Given the description of an element on the screen output the (x, y) to click on. 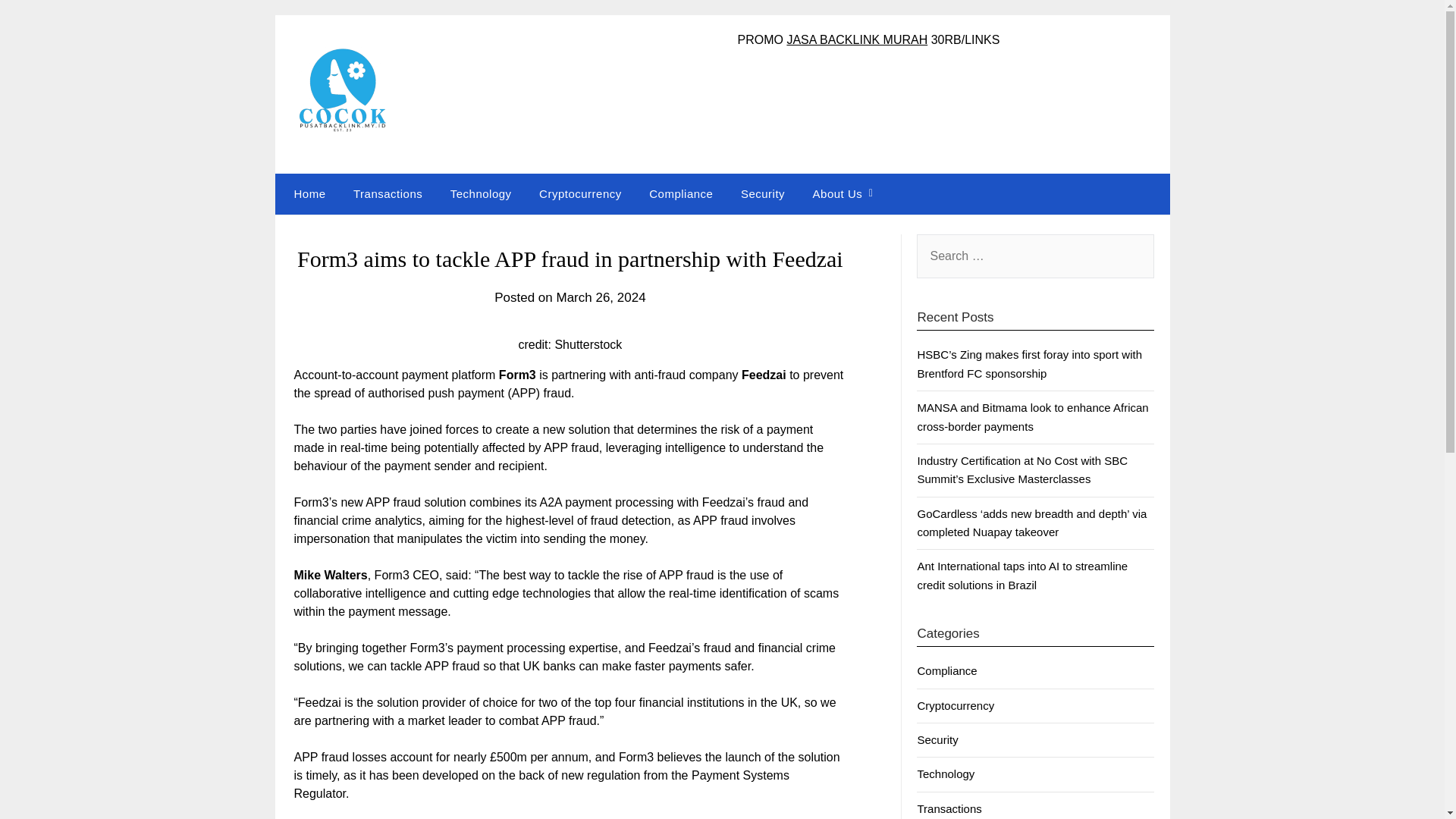
Compliance (681, 193)
Transactions (386, 193)
Search (38, 22)
Security (762, 193)
About Us (837, 193)
Security (937, 739)
JASA BACKLINK MURAH (856, 39)
Compliance (946, 670)
Home (306, 193)
Cryptocurrency (955, 705)
